Given the description of an element on the screen output the (x, y) to click on. 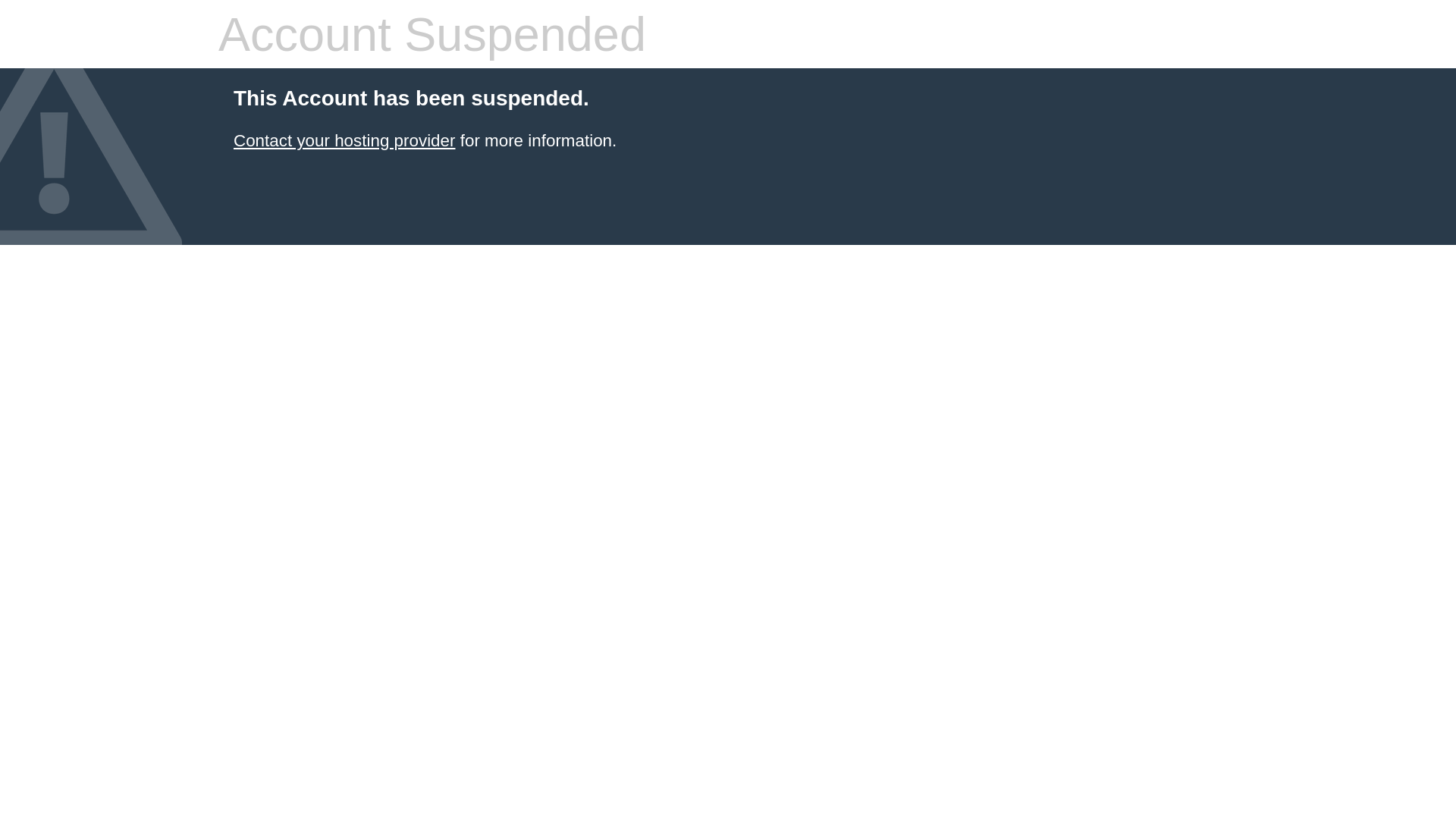
Contact your hosting provider Element type: text (344, 140)
